Given the description of an element on the screen output the (x, y) to click on. 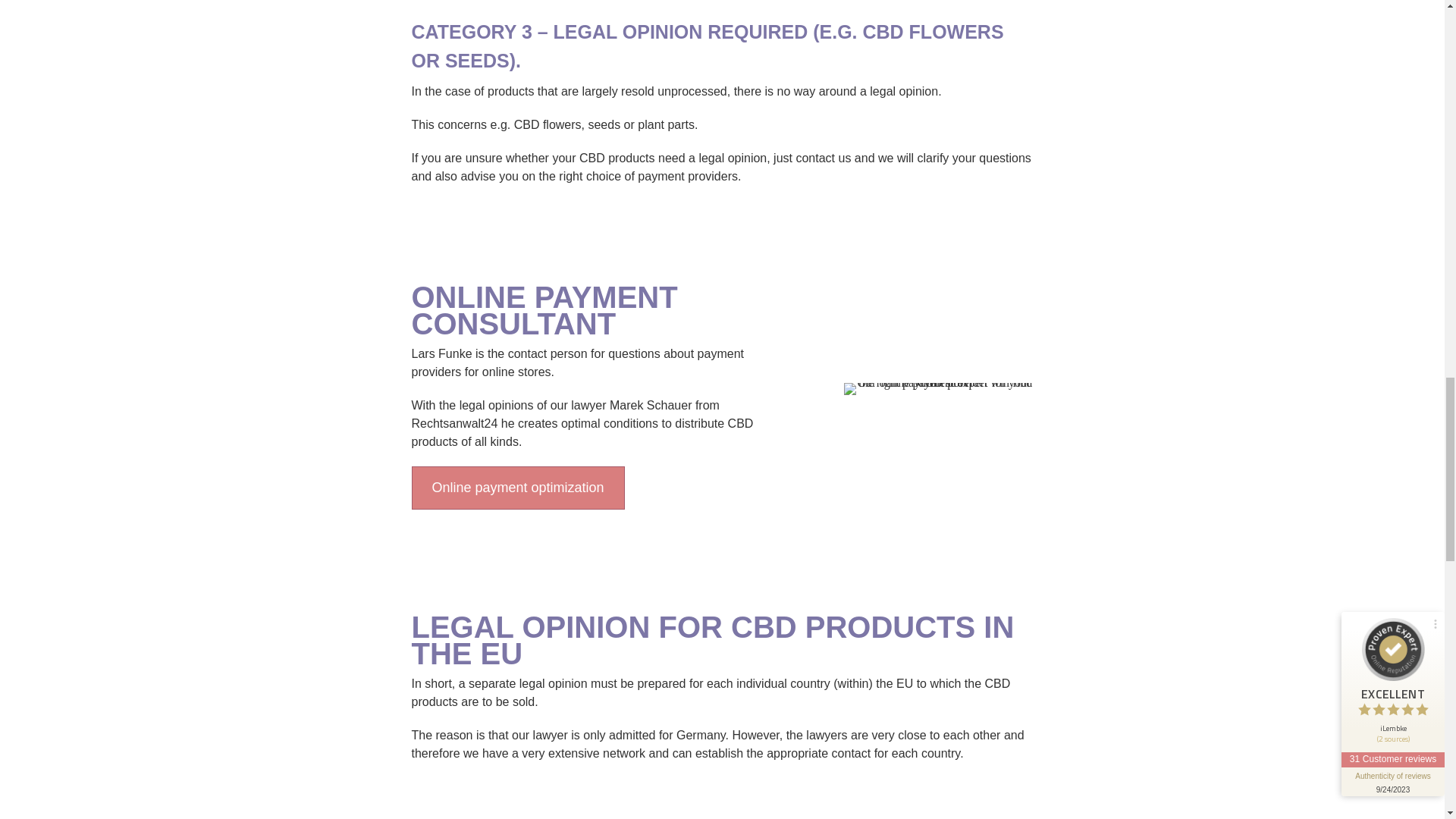
Online payment optimization (517, 487)
